Given the description of an element on the screen output the (x, y) to click on. 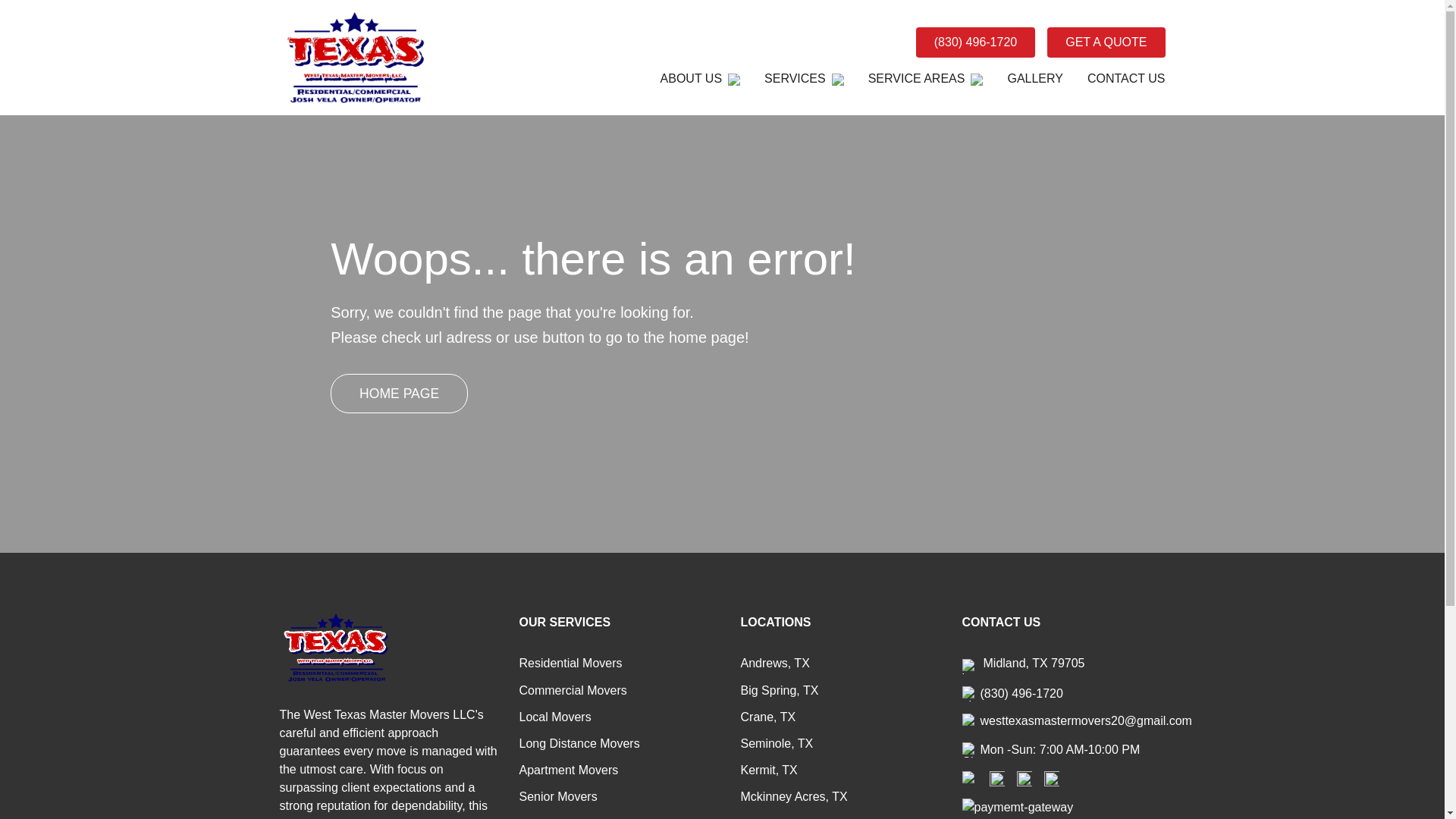
Arrow Down (976, 79)
p1u62var (354, 57)
GET A QUOTE (1105, 42)
Arrow Down (837, 79)
facebook-f (968, 778)
location-dot-bold (968, 666)
linkedin (1050, 778)
ABOUT US (701, 78)
ig (996, 778)
icons8-google (1023, 778)
